Given the description of an element on the screen output the (x, y) to click on. 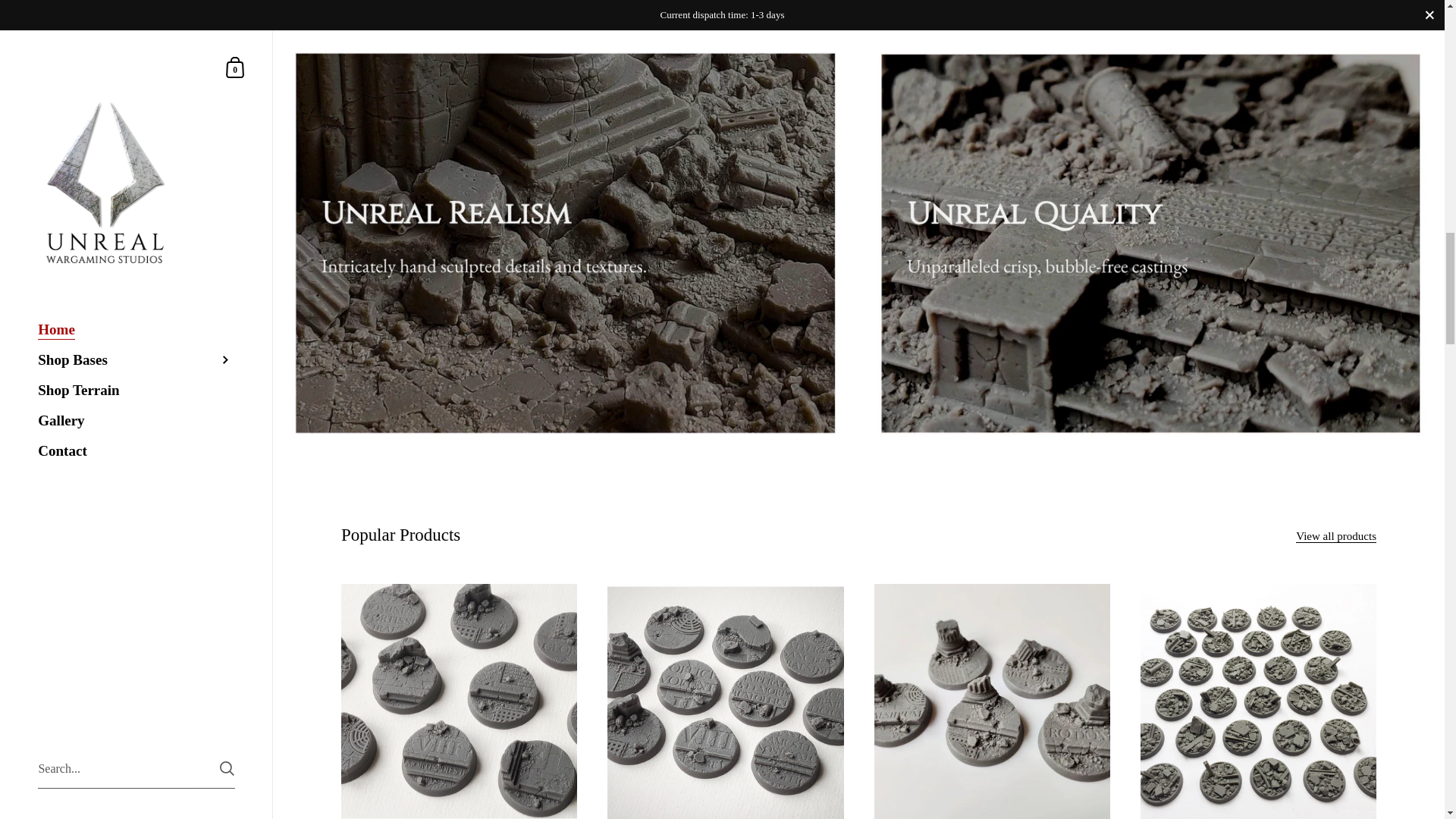
View all products (1335, 535)
